Given the description of an element on the screen output the (x, y) to click on. 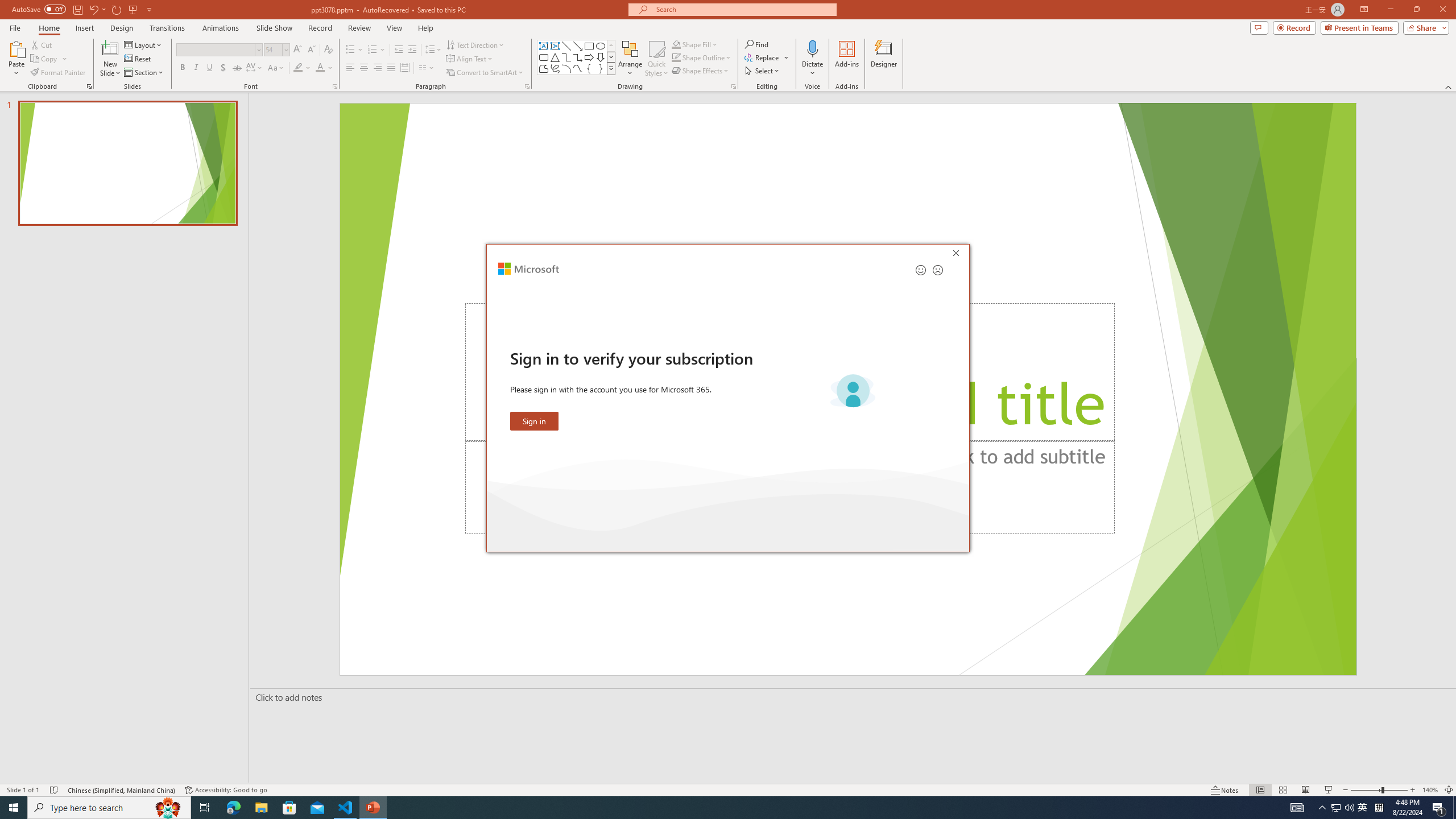
Action Center, 1 new notification (1439, 807)
Send a frown for feedback (937, 269)
Shape Fill Dark Green, Accent 2 (675, 44)
Microsoft Edge (233, 807)
